Given the description of an element on the screen output the (x, y) to click on. 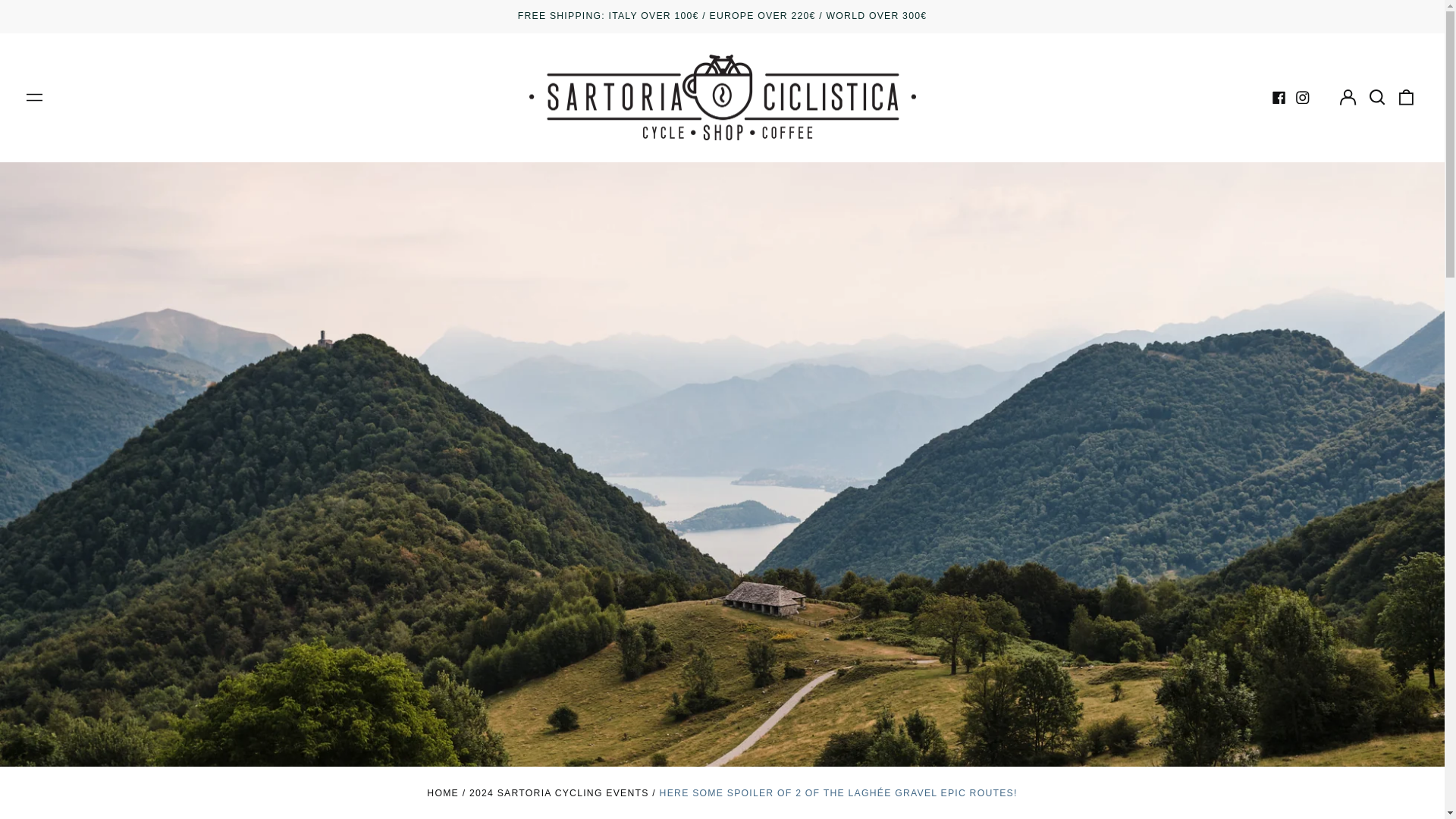
Home (442, 792)
